Given the description of an element on the screen output the (x, y) to click on. 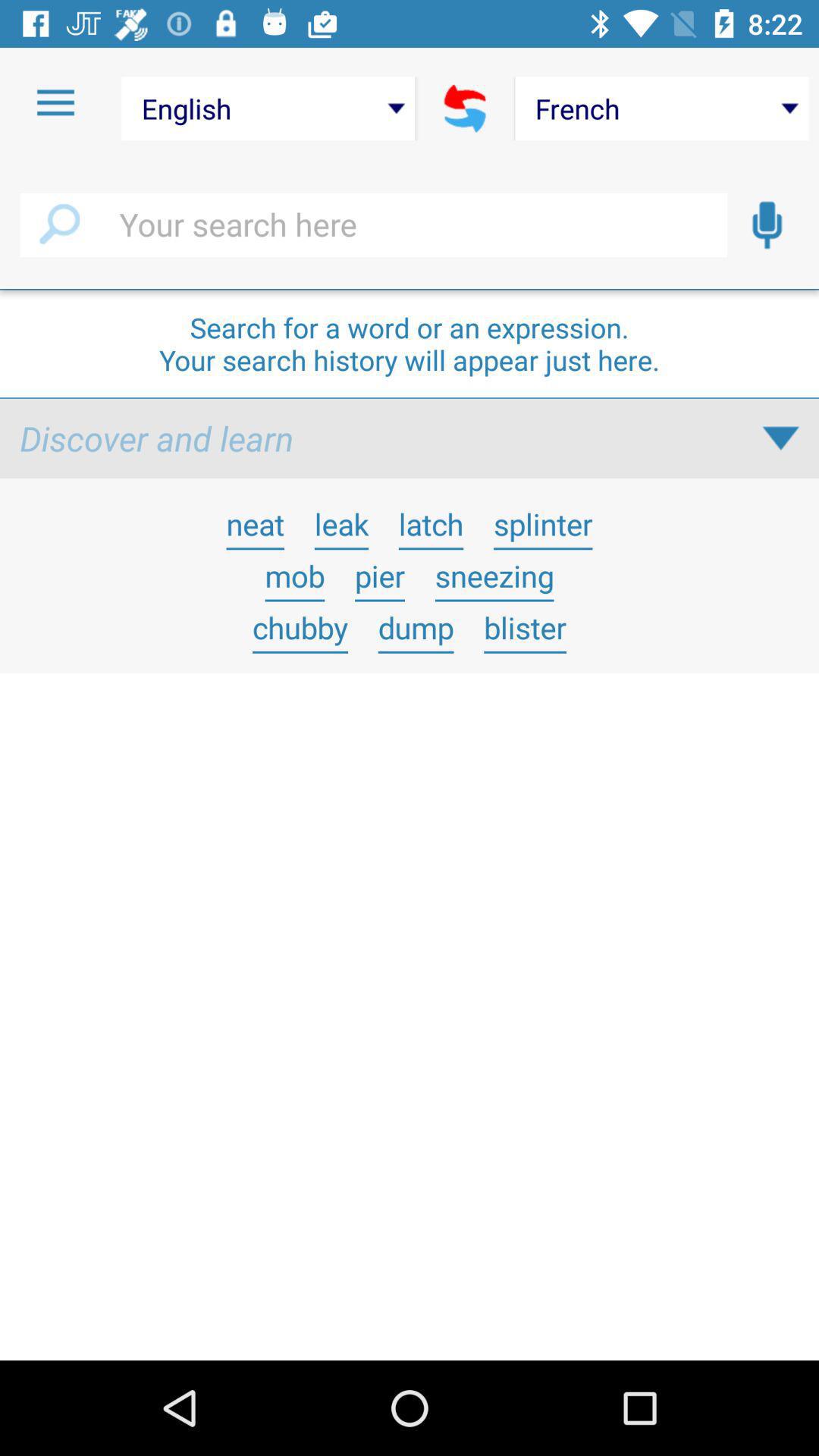
launch icon below the discover and learn app (255, 523)
